Given the description of an element on the screen output the (x, y) to click on. 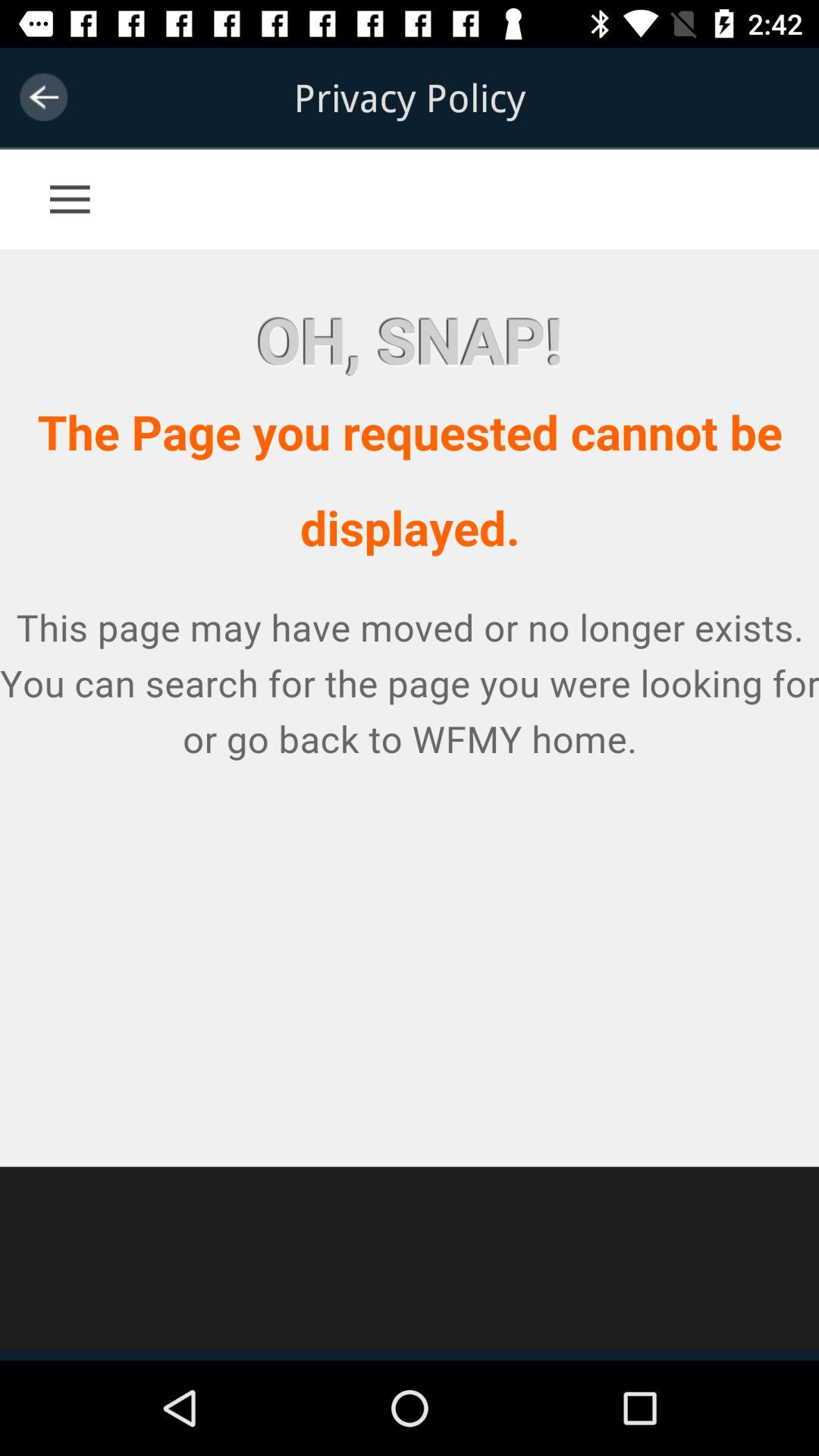
go back (43, 97)
